Given the description of an element on the screen output the (x, y) to click on. 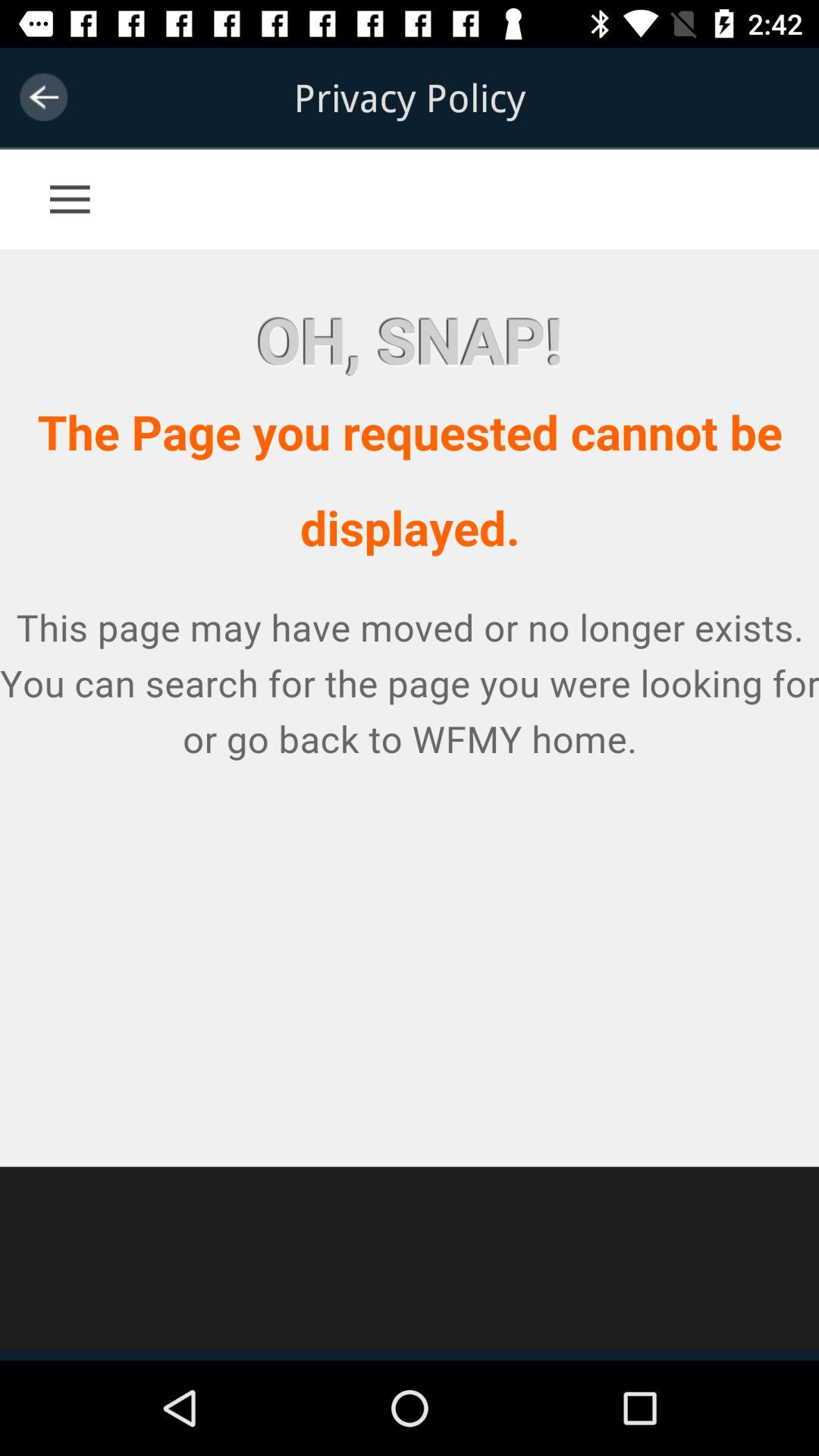
go back (43, 97)
